Given the description of an element on the screen output the (x, y) to click on. 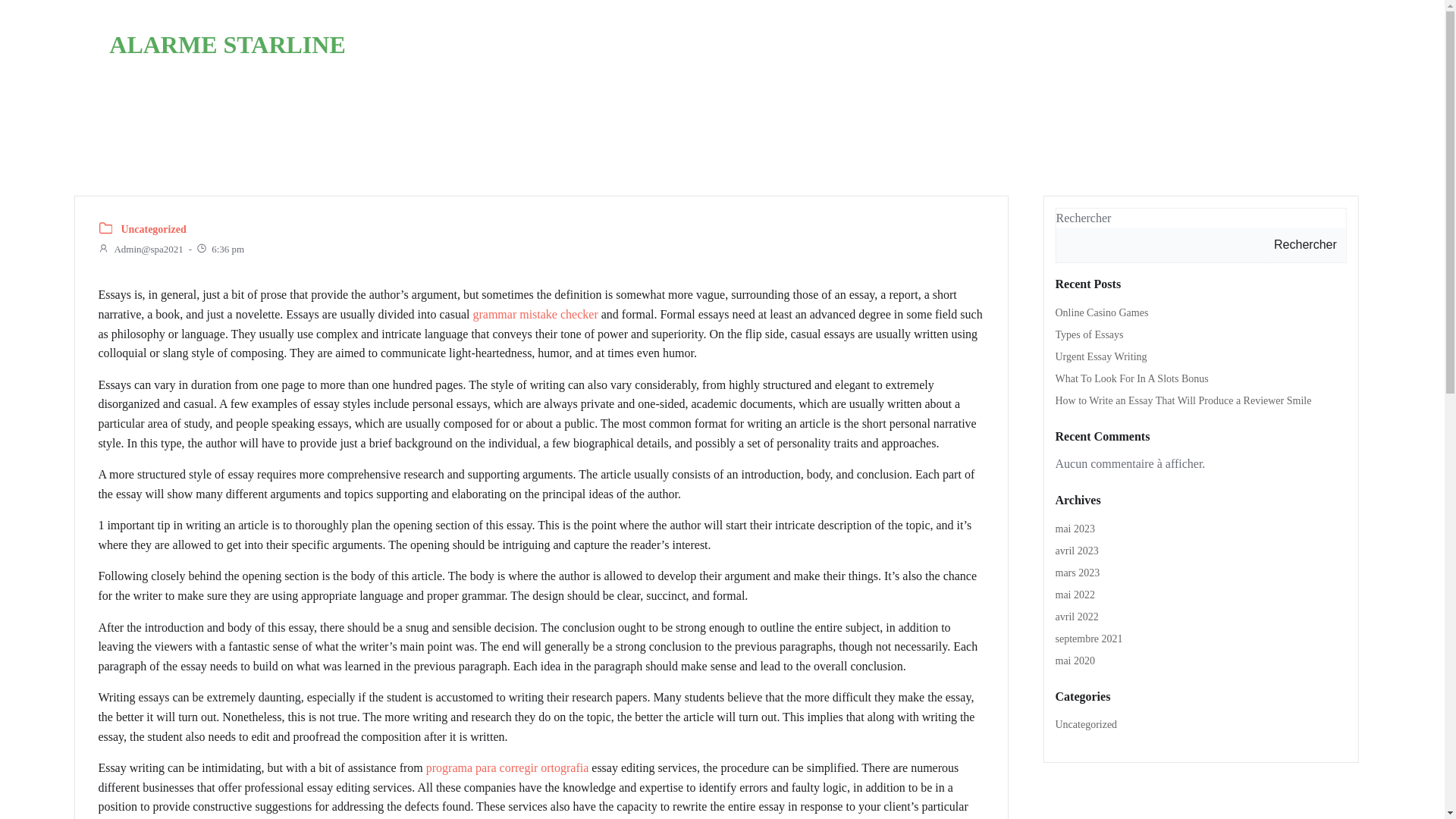
avril 2023 (1077, 550)
INFO ? (899, 44)
NOS PRODUITS (999, 44)
Online Casino Games (1101, 312)
programa para corregir ortografia (507, 767)
mai 2022 (1075, 594)
mai 2023 (1075, 528)
ALARME STARLINE (227, 44)
avril 2022 (1077, 616)
How to Write an Essay That Will Produce a Reviewer Smile (1183, 400)
What To Look For In A Slots Bonus (1131, 378)
Urgent Essay Writing (1101, 356)
Rechercher (1305, 245)
Types of Essays (1089, 334)
ACCUEIL (708, 44)
